Given the description of an element on the screen output the (x, y) to click on. 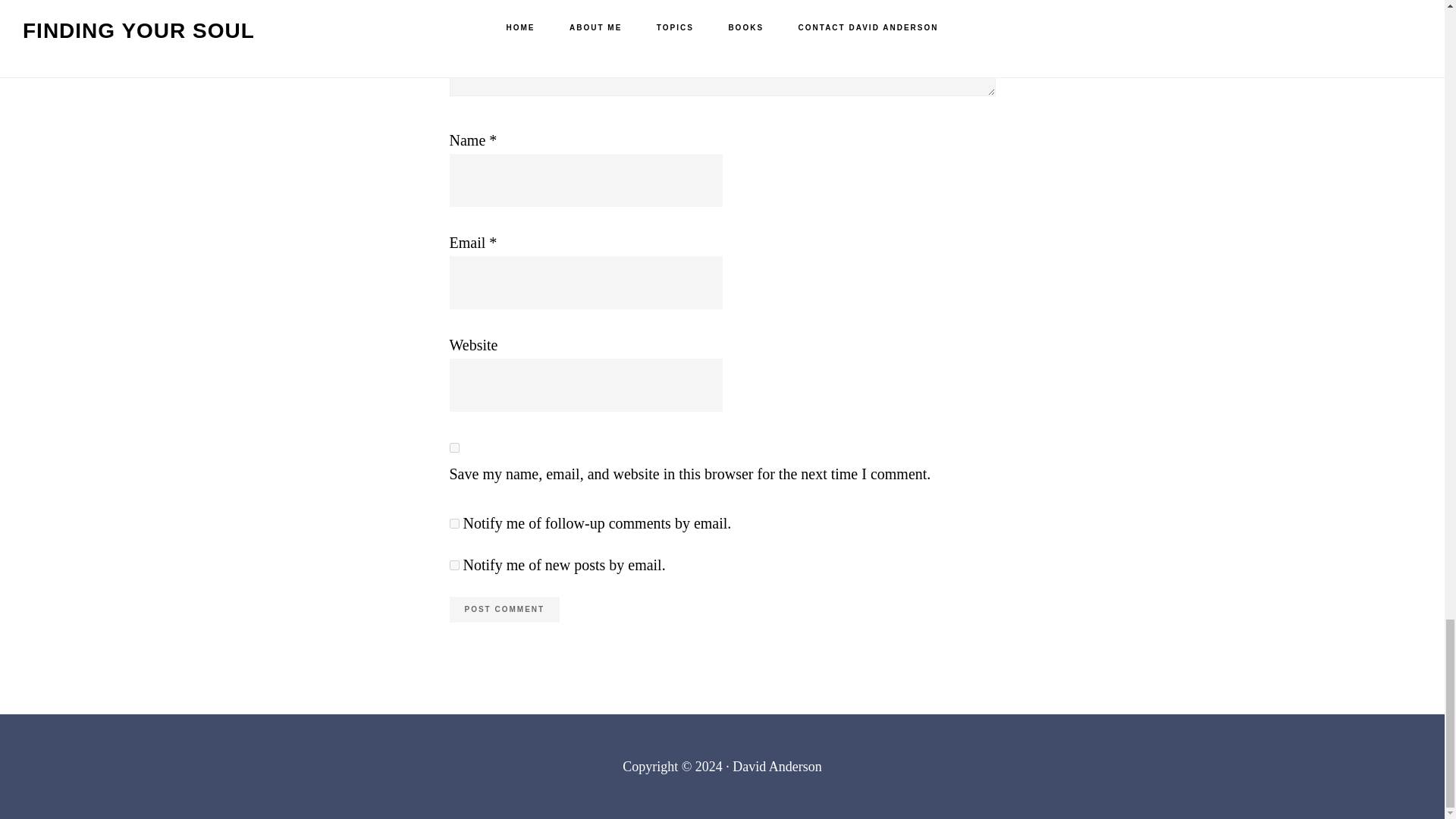
subscribe (453, 565)
subscribe (453, 523)
Post Comment (503, 609)
Post Comment (503, 609)
yes (453, 447)
